Given the description of an element on the screen output the (x, y) to click on. 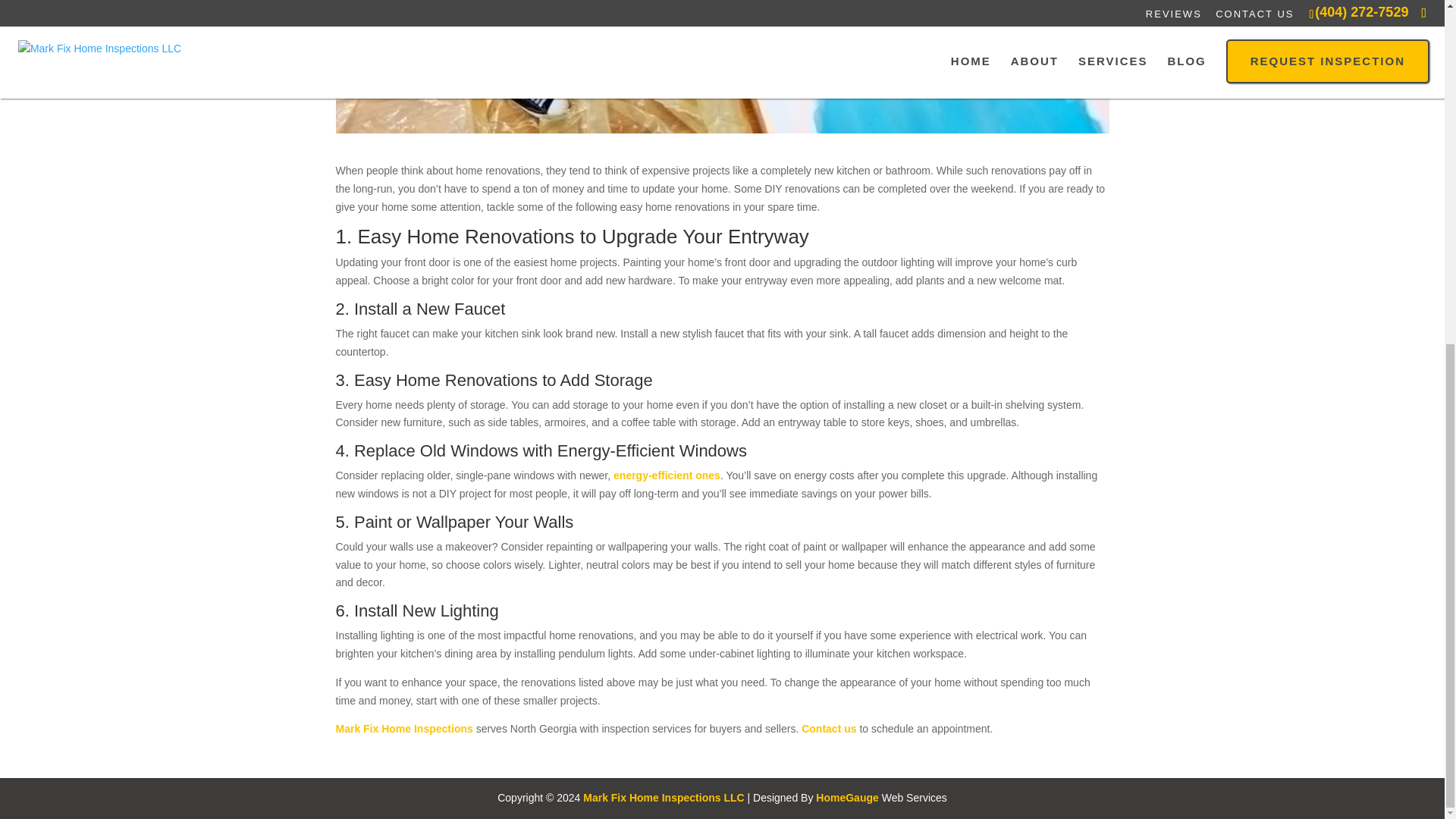
Mark Fix Home Inspections (402, 728)
energy-efficient ones (666, 475)
Contact us (829, 728)
Mark Fix Home Inspections LLC (663, 797)
HomeGauge (846, 797)
